Given the description of an element on the screen output the (x, y) to click on. 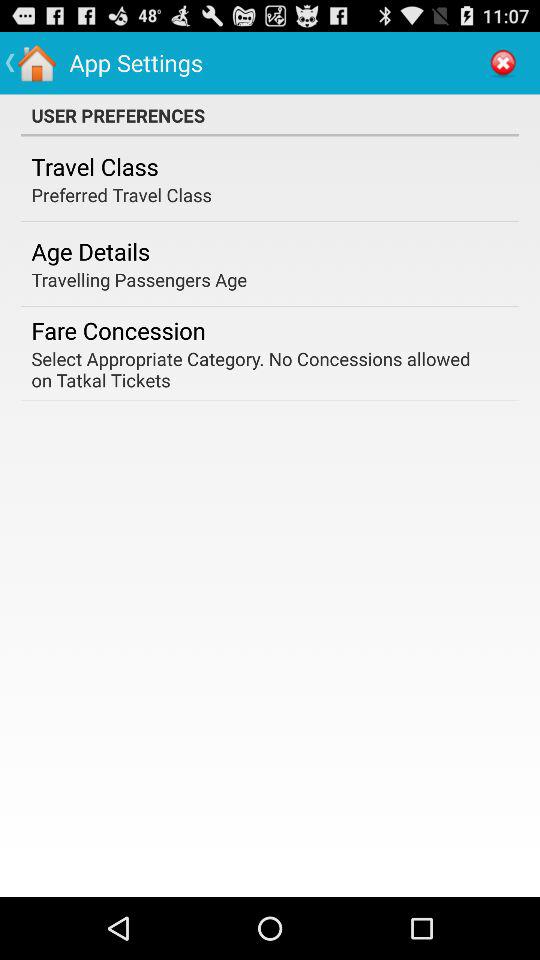
turn on user preferences item (270, 115)
